Given the description of an element on the screen output the (x, y) to click on. 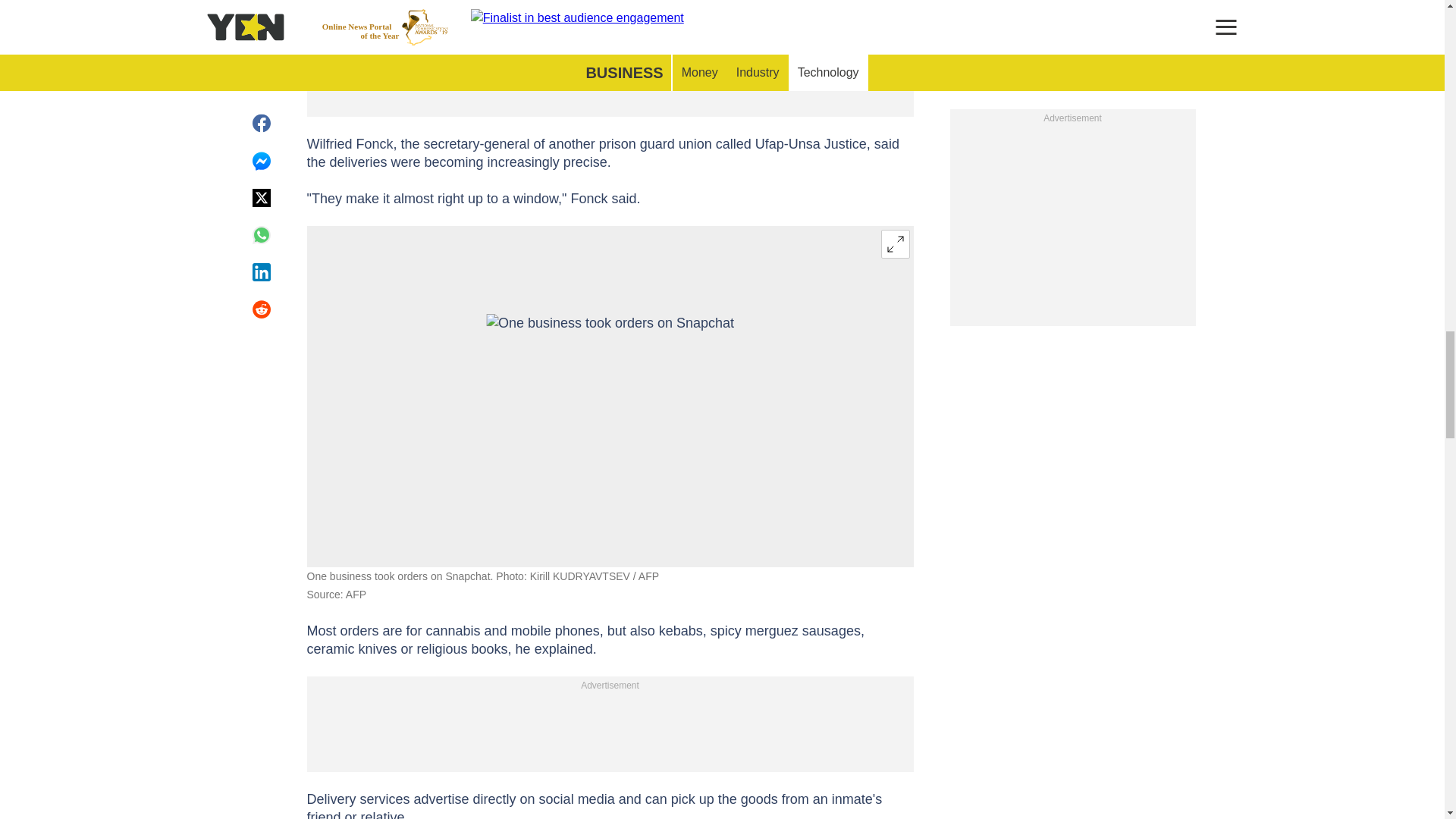
One business took orders on Snapchat (609, 396)
Expand image (895, 244)
